Given the description of an element on the screen output the (x, y) to click on. 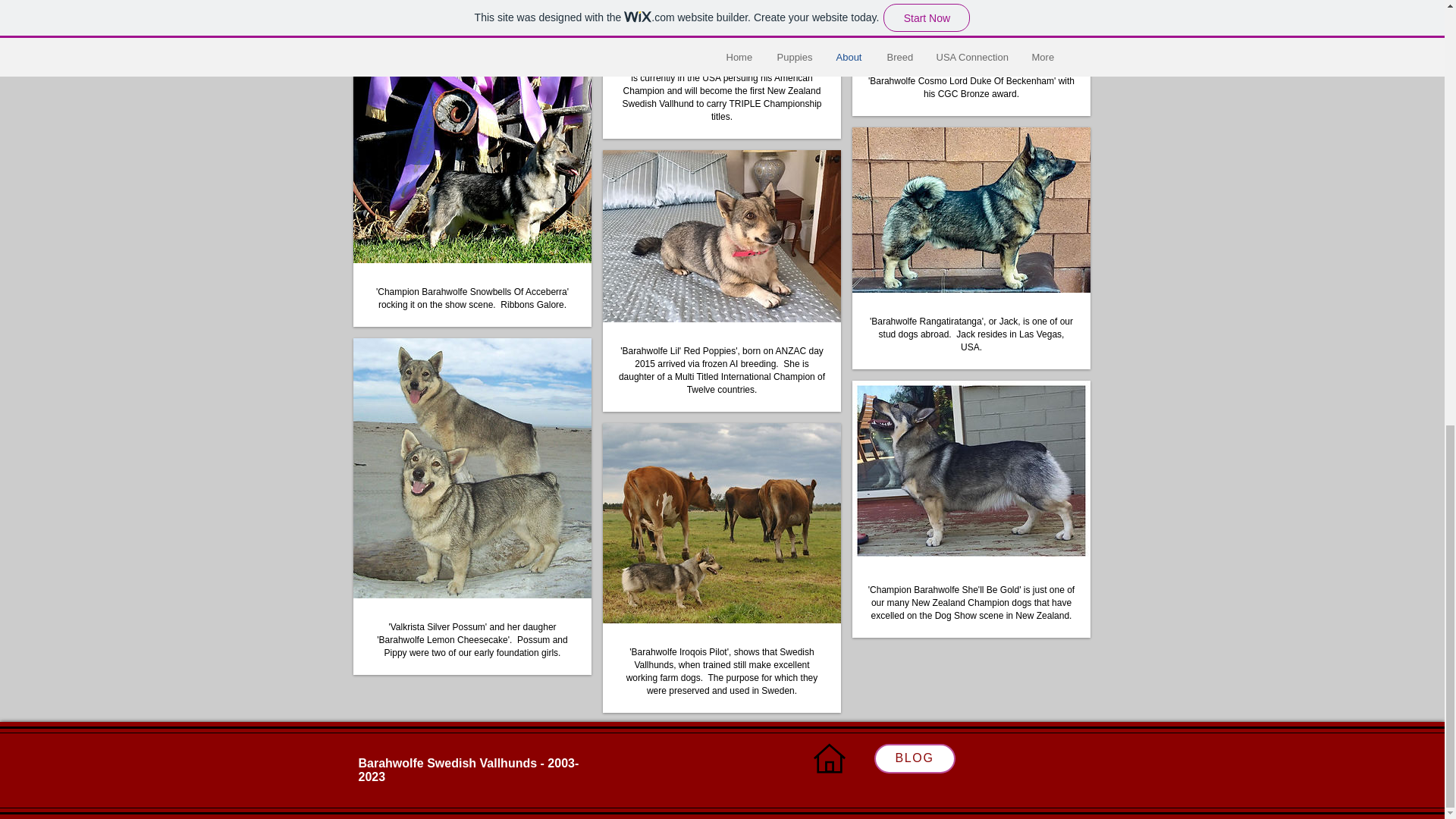
BLOG (914, 758)
